Given the description of an element on the screen output the (x, y) to click on. 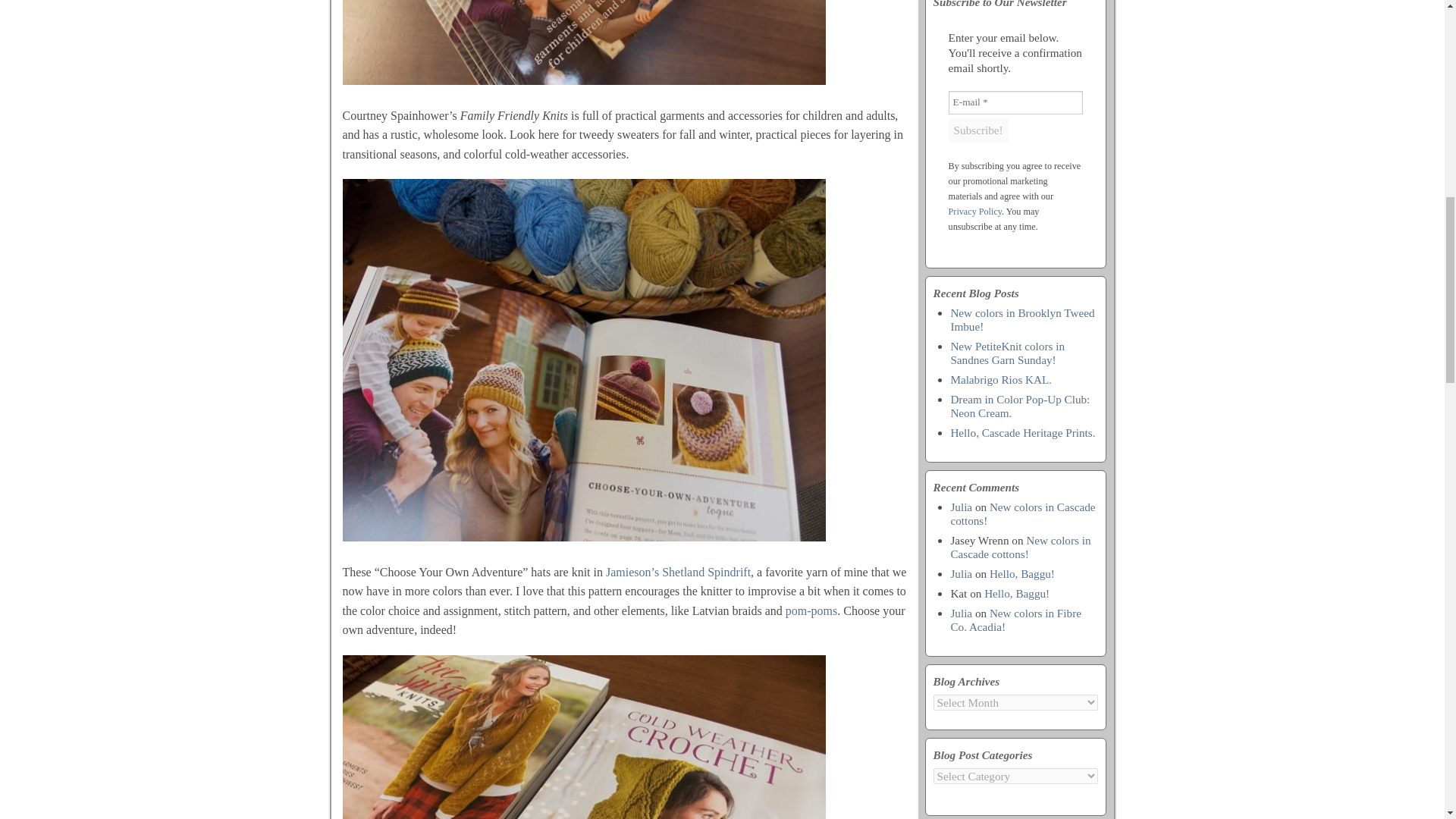
New colors in Brooklyn Tweed Imbue! (1022, 319)
E-mail (1016, 102)
Malabrigo Rios KAL. (1000, 379)
Dream in Color Pop-Up Club: Neon Cream. (1019, 406)
pom-poms (811, 610)
Privacy Policy (975, 211)
New PetiteKnit colors in Sandnes Garn Sunday! (1007, 352)
Subscribe! (979, 129)
Subscribe! (979, 129)
